Given the description of an element on the screen output the (x, y) to click on. 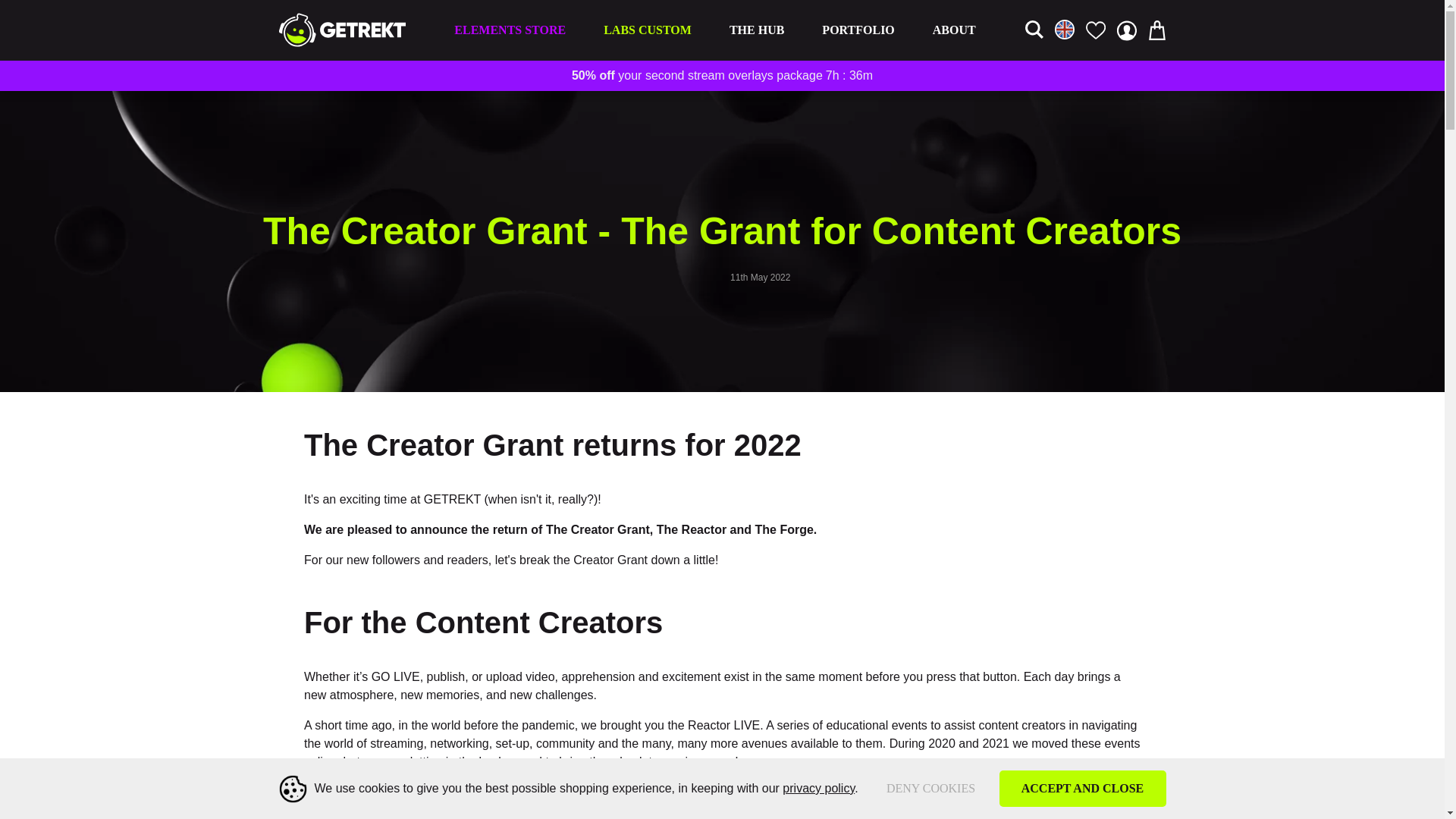
ABOUT (954, 29)
PORTFOLIO (857, 29)
THE HUB (756, 29)
ELEMENTS STORE (510, 29)
LABS CUSTOM (647, 29)
